Given the description of an element on the screen output the (x, y) to click on. 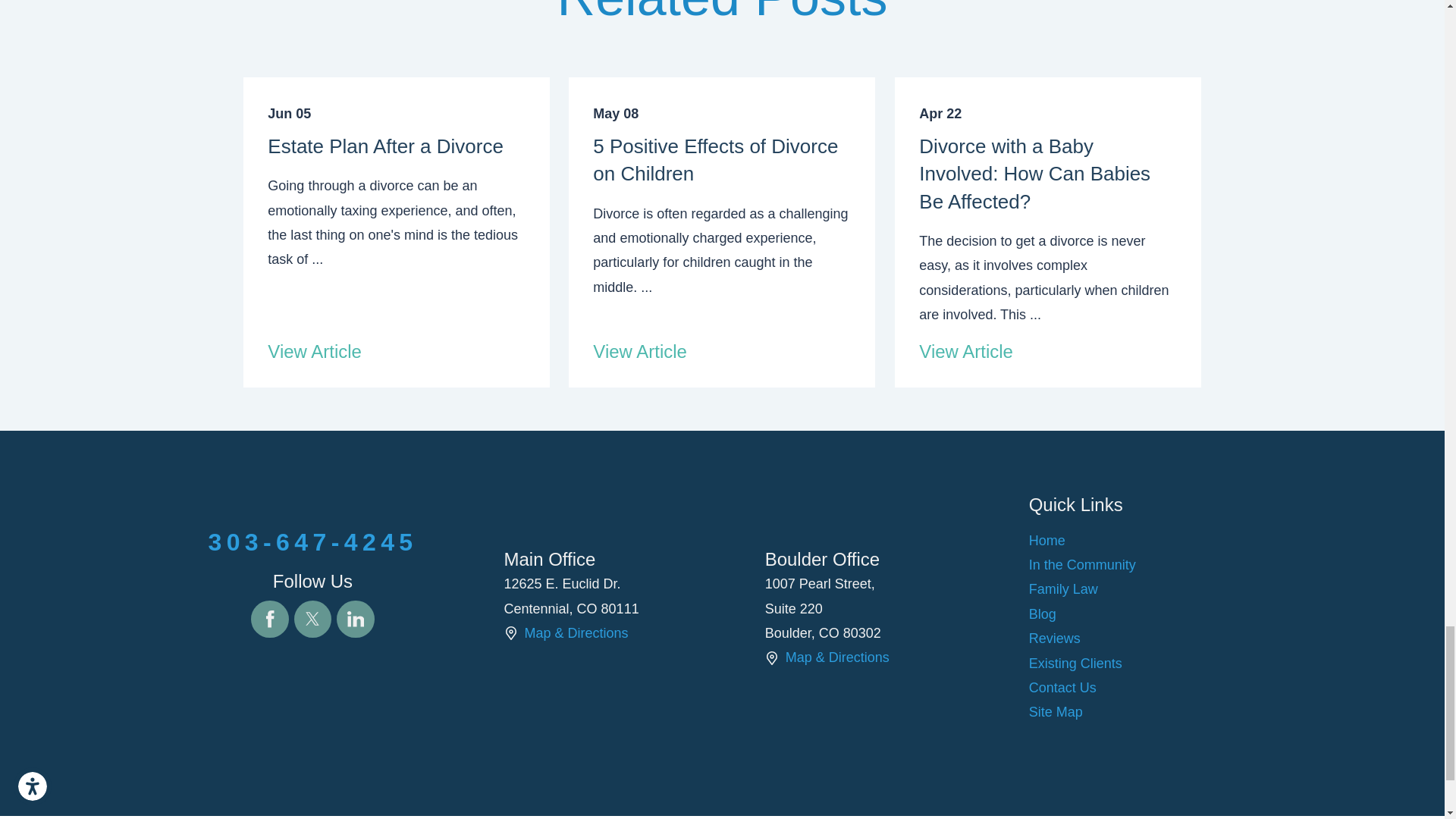
Facebook (269, 619)
Twitter (312, 619)
Site Icon (509, 632)
LinkedIn (355, 619)
Site Icon (771, 658)
